Given the description of an element on the screen output the (x, y) to click on. 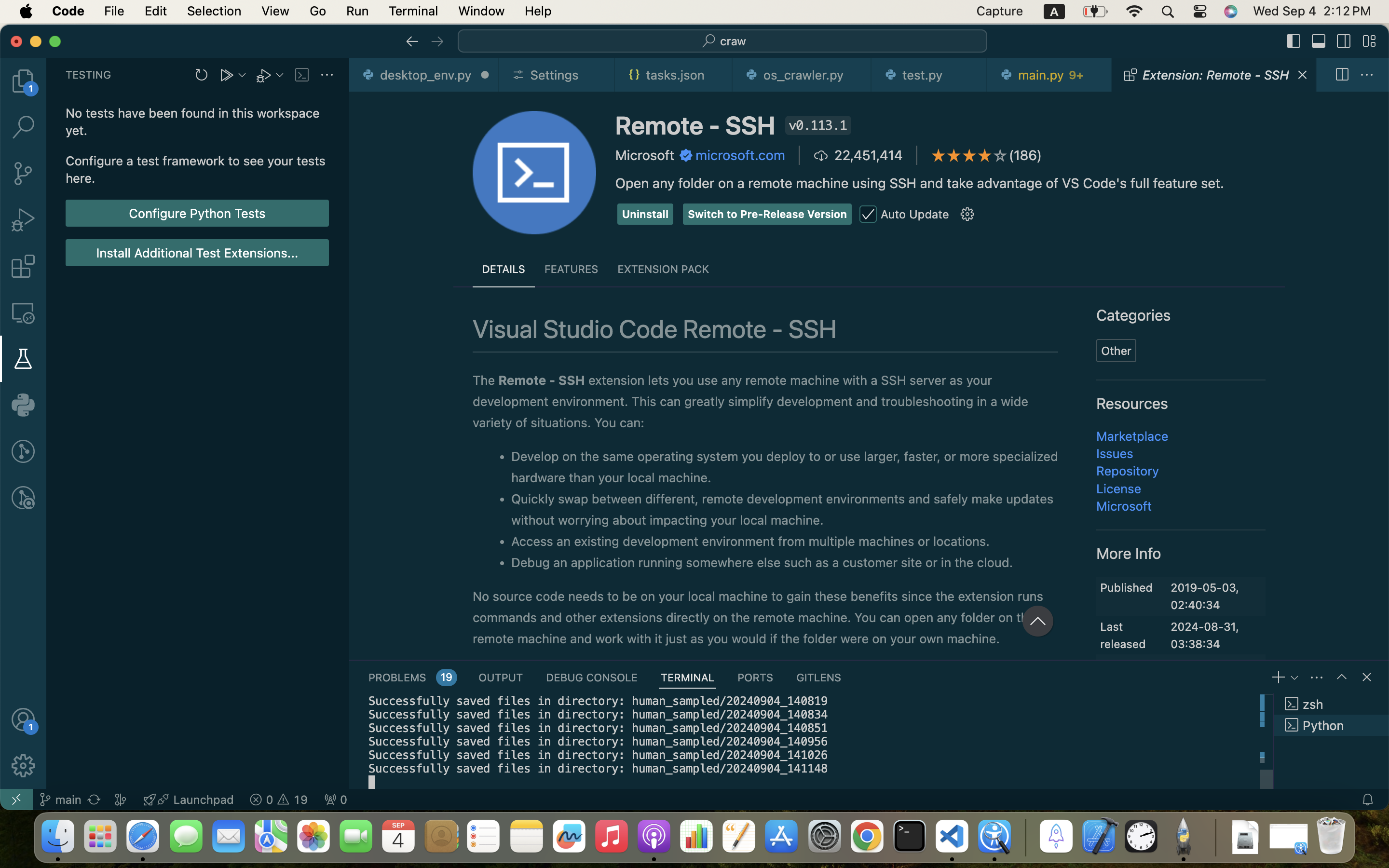
0 Settings   Element type: AXRadioButton (557, 74)
 Element type: AXButton (1341, 74)
Published Element type: AXStaticText (1126, 587)
Marketplace Element type: AXStaticText (1132, 435)
